Given the description of an element on the screen output the (x, y) to click on. 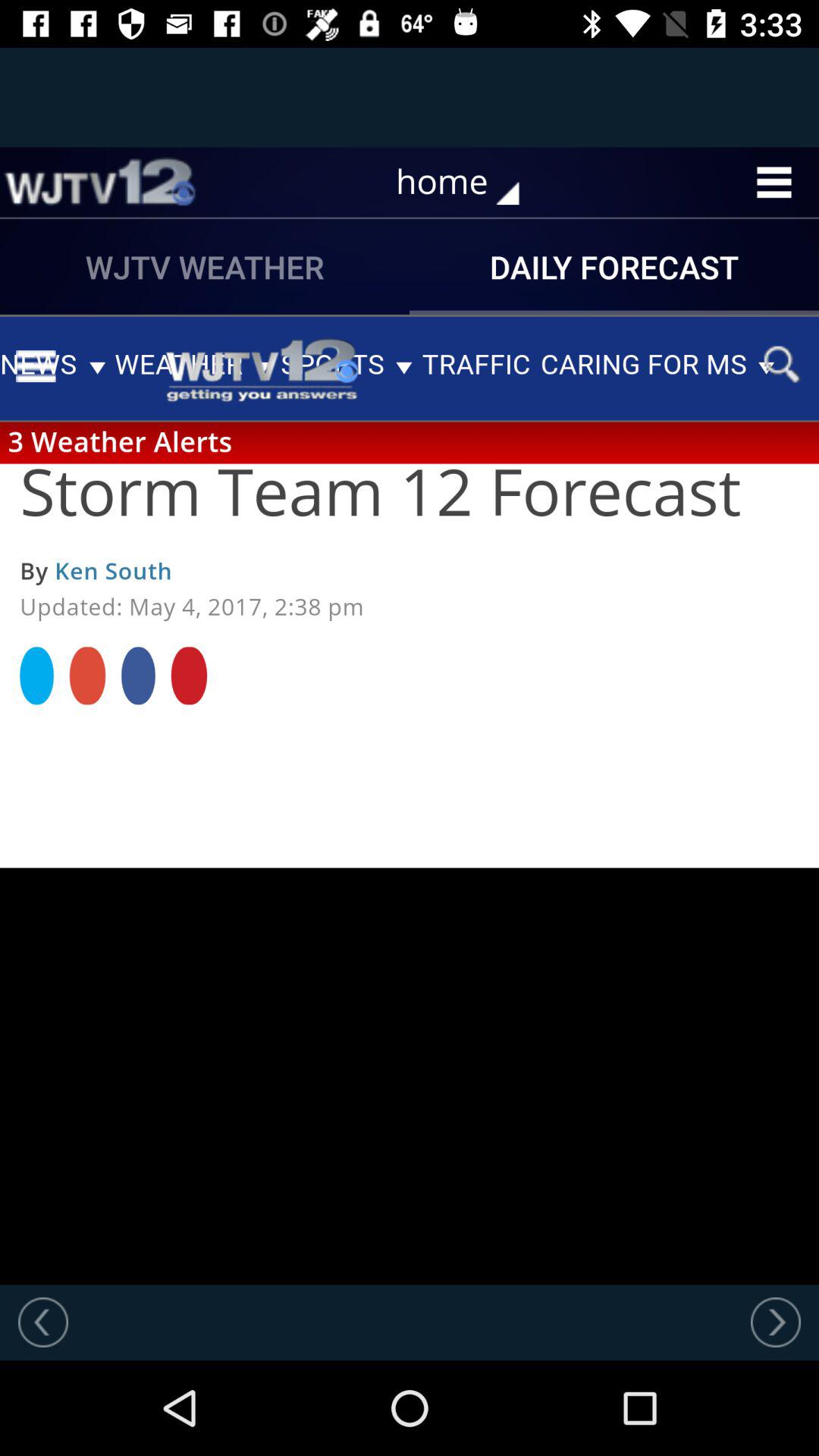
jump to home icon (468, 182)
